Given the description of an element on the screen output the (x, y) to click on. 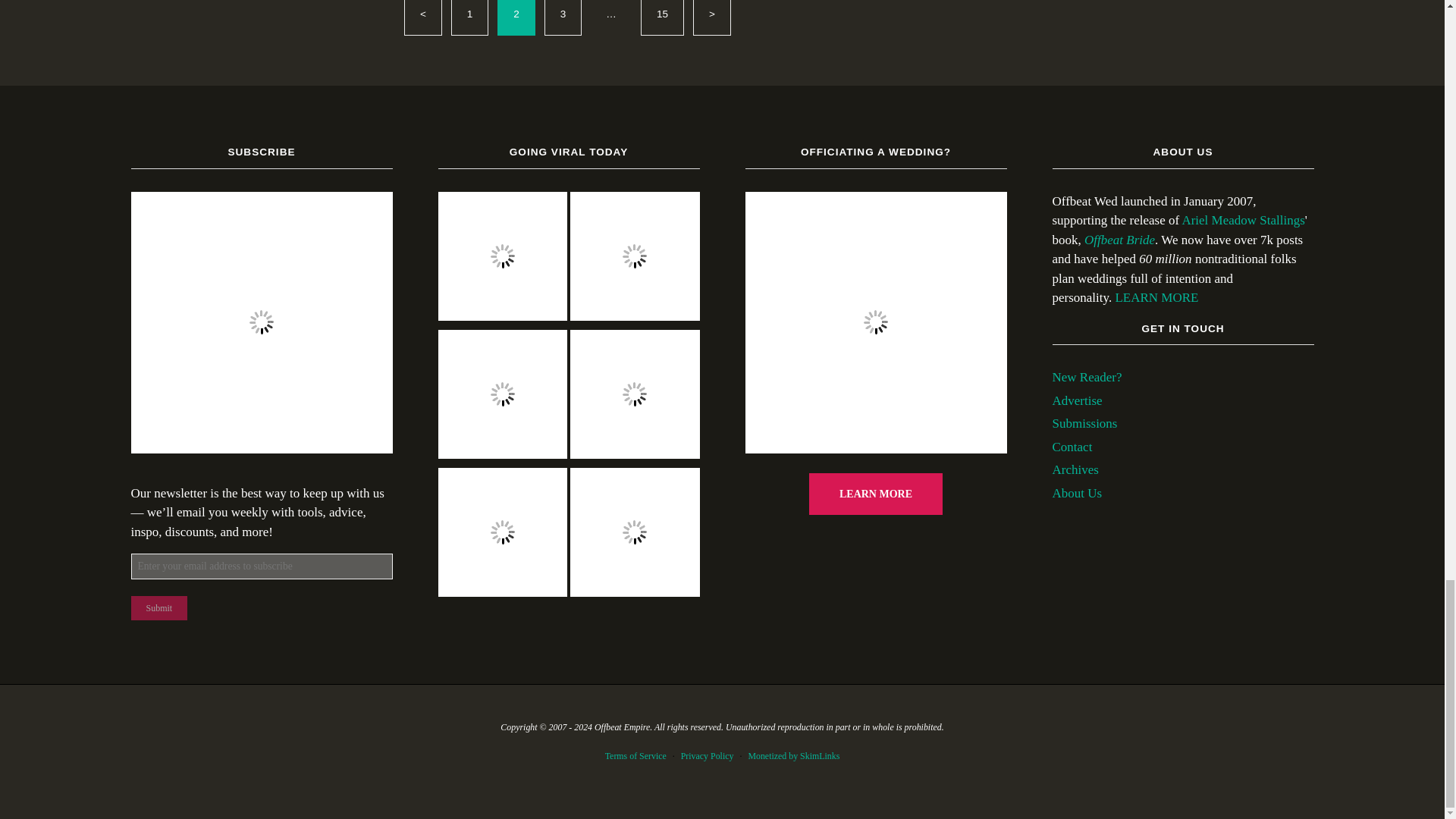
Submit (159, 607)
